Given the description of an element on the screen output the (x, y) to click on. 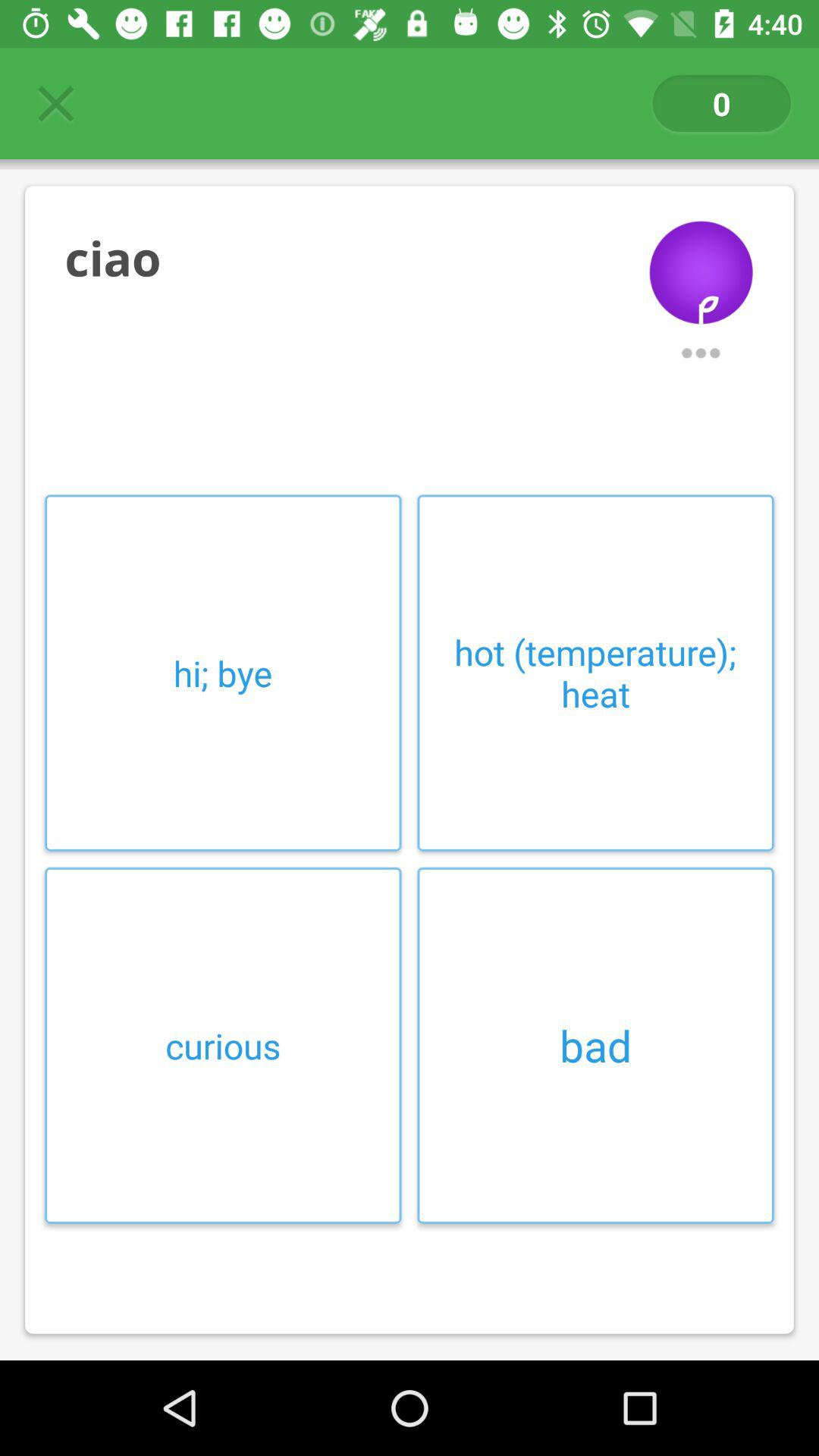
turn off the curious at the bottom left corner (222, 1045)
